Given the description of an element on the screen output the (x, y) to click on. 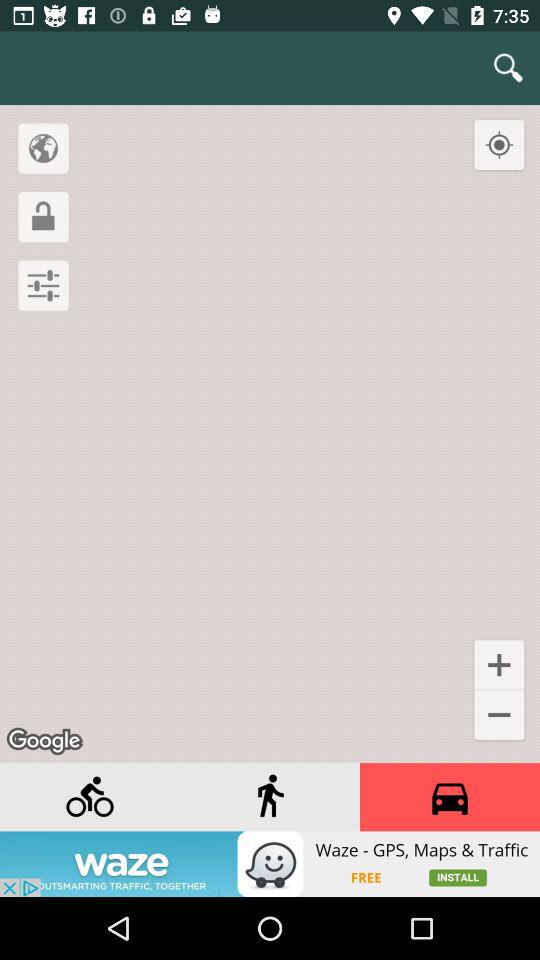
switch to walking (270, 797)
